Given the description of an element on the screen output the (x, y) to click on. 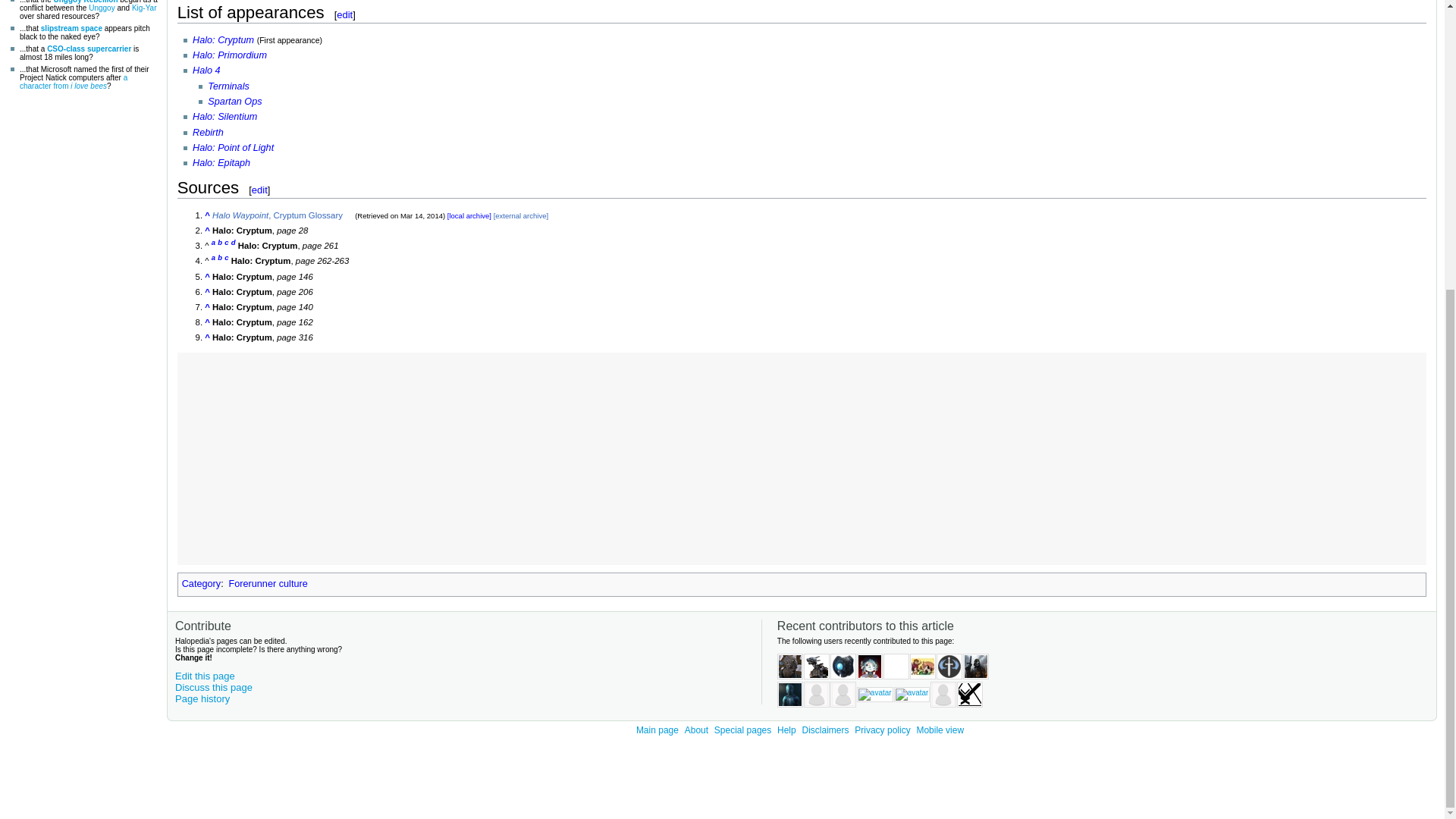
Kig-Yar (144, 8)
Slipstream space (70, 28)
CSO-class supercarrier (88, 49)
Unggoy (101, 8)
Unggoy Rebellion (84, 2)
